Given the description of an element on the screen output the (x, y) to click on. 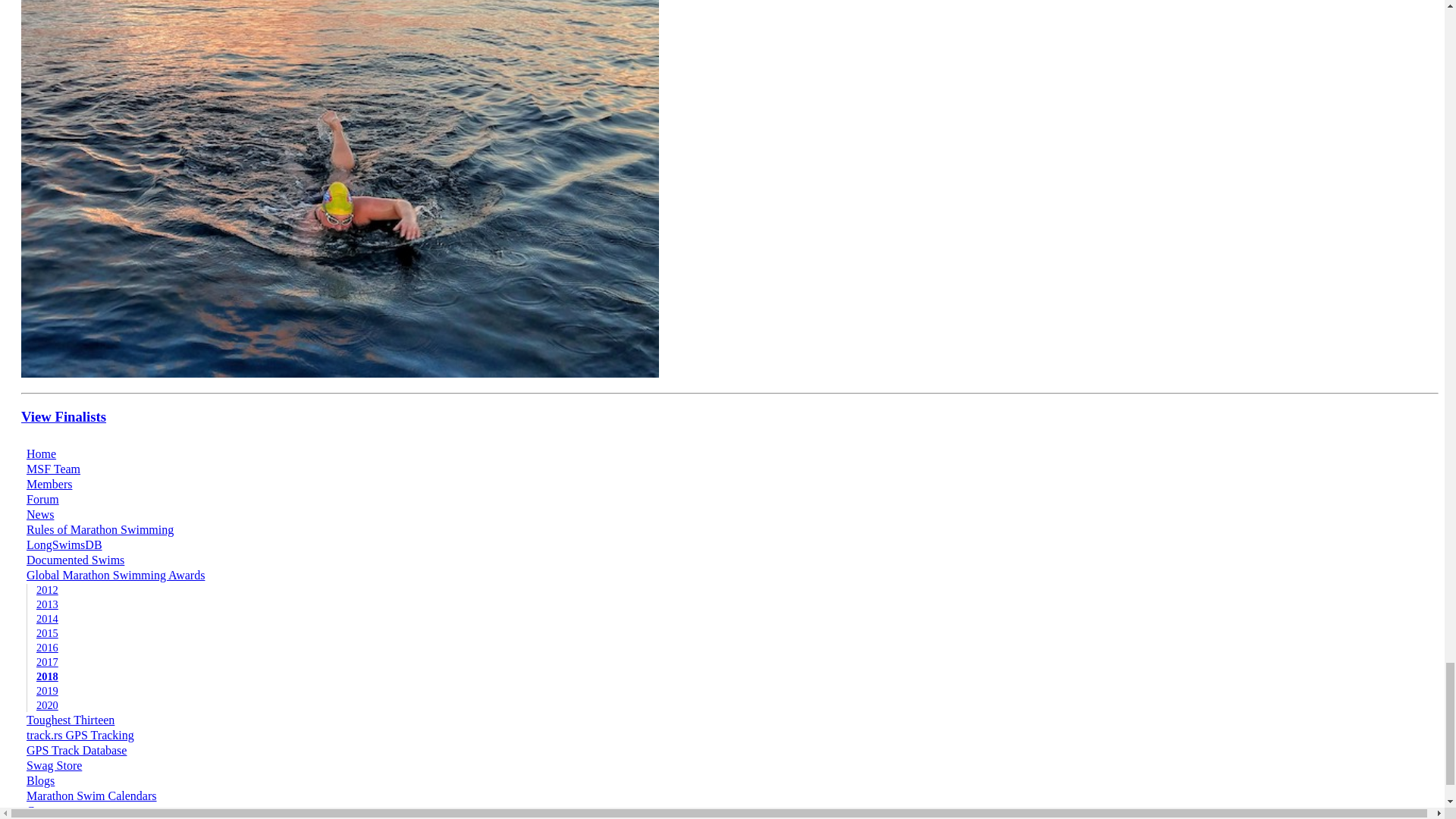
2015 (47, 633)
Swag Store (53, 765)
View Finalists (63, 416)
track.rs GPS Tracking (79, 735)
LongSwimsDB (63, 544)
Documented Swims (74, 559)
2017 (47, 662)
Forum (42, 499)
2014 (47, 618)
Blogs (40, 780)
GPS Track Database (76, 749)
Toughest Thirteen (70, 719)
2012 (47, 589)
Global Marathon Swimming Awards (115, 574)
Home (41, 453)
